Given the description of an element on the screen output the (x, y) to click on. 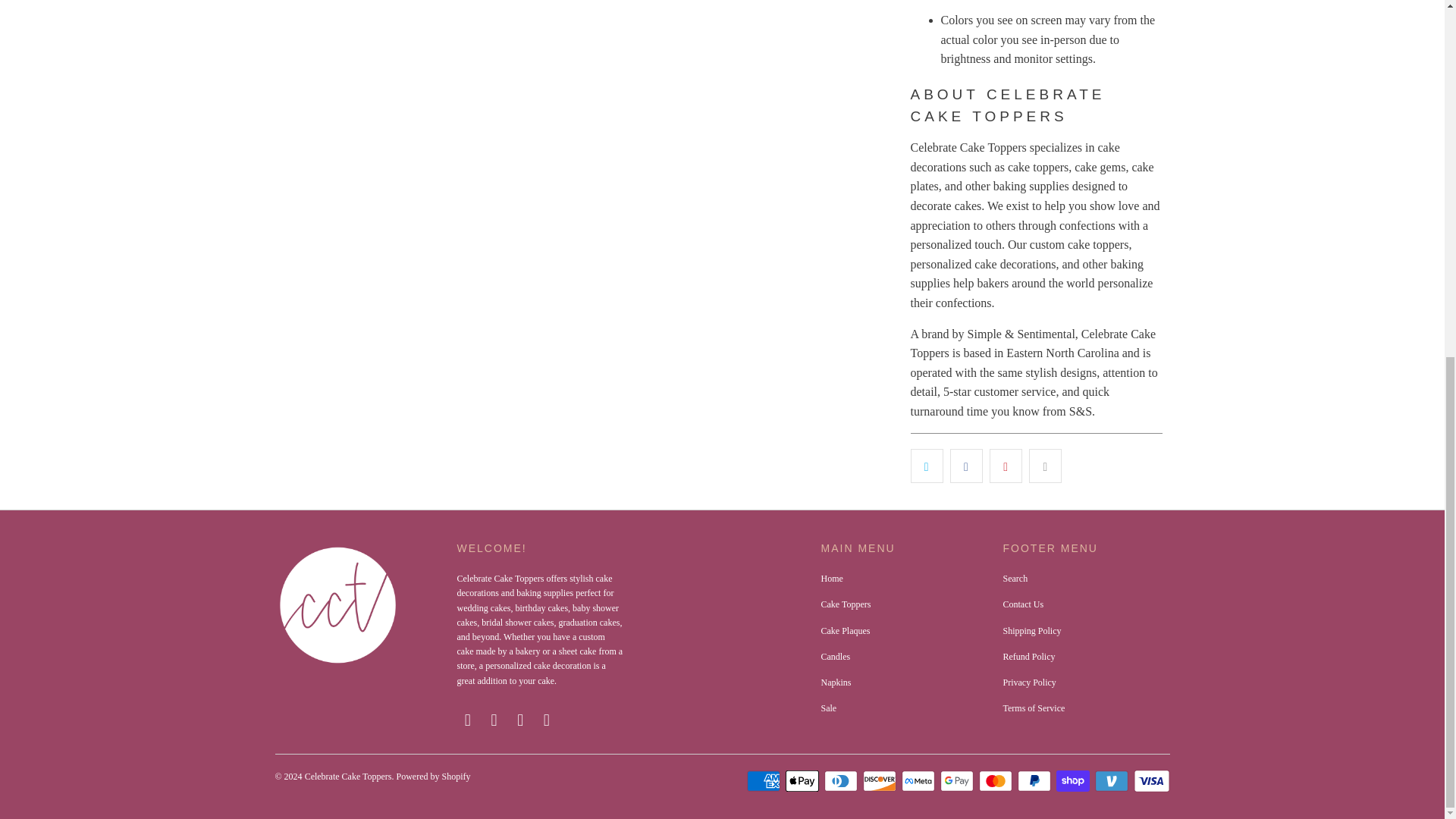
Email this to a friend (1045, 466)
Discover (881, 780)
PayPal (1035, 780)
Apple Pay (804, 780)
Visa (1150, 780)
Share this on Pinterest (1006, 466)
Mastercard (996, 780)
Diners Club (842, 780)
Shop Pay (1073, 780)
Share this on Twitter (926, 466)
Meta Pay (919, 780)
American Express (764, 780)
Share this on Facebook (966, 466)
Google Pay (958, 780)
Venmo (1112, 780)
